Given the description of an element on the screen output the (x, y) to click on. 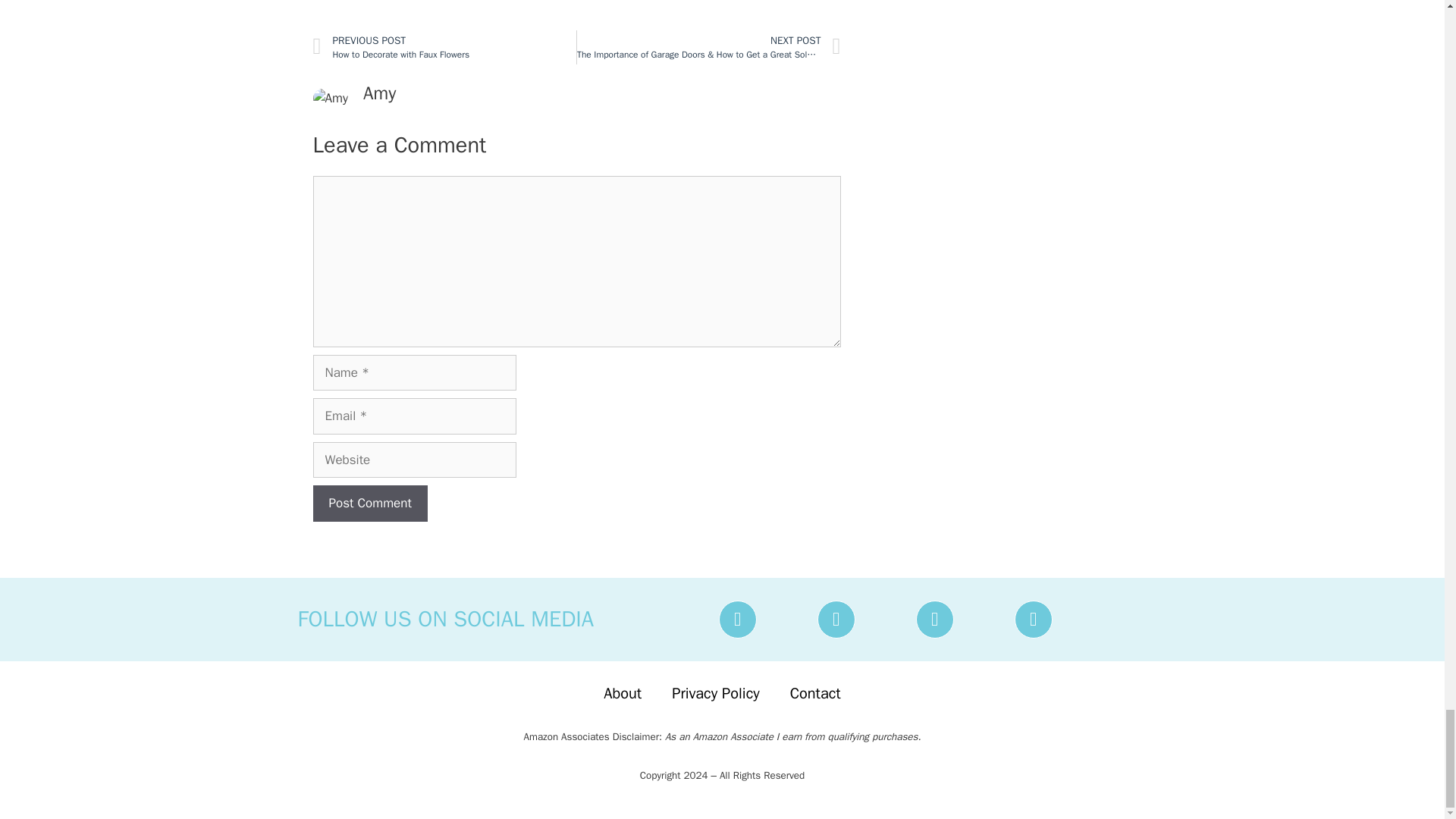
Post Comment (369, 503)
Post Comment (369, 503)
